Given the description of an element on the screen output the (x, y) to click on. 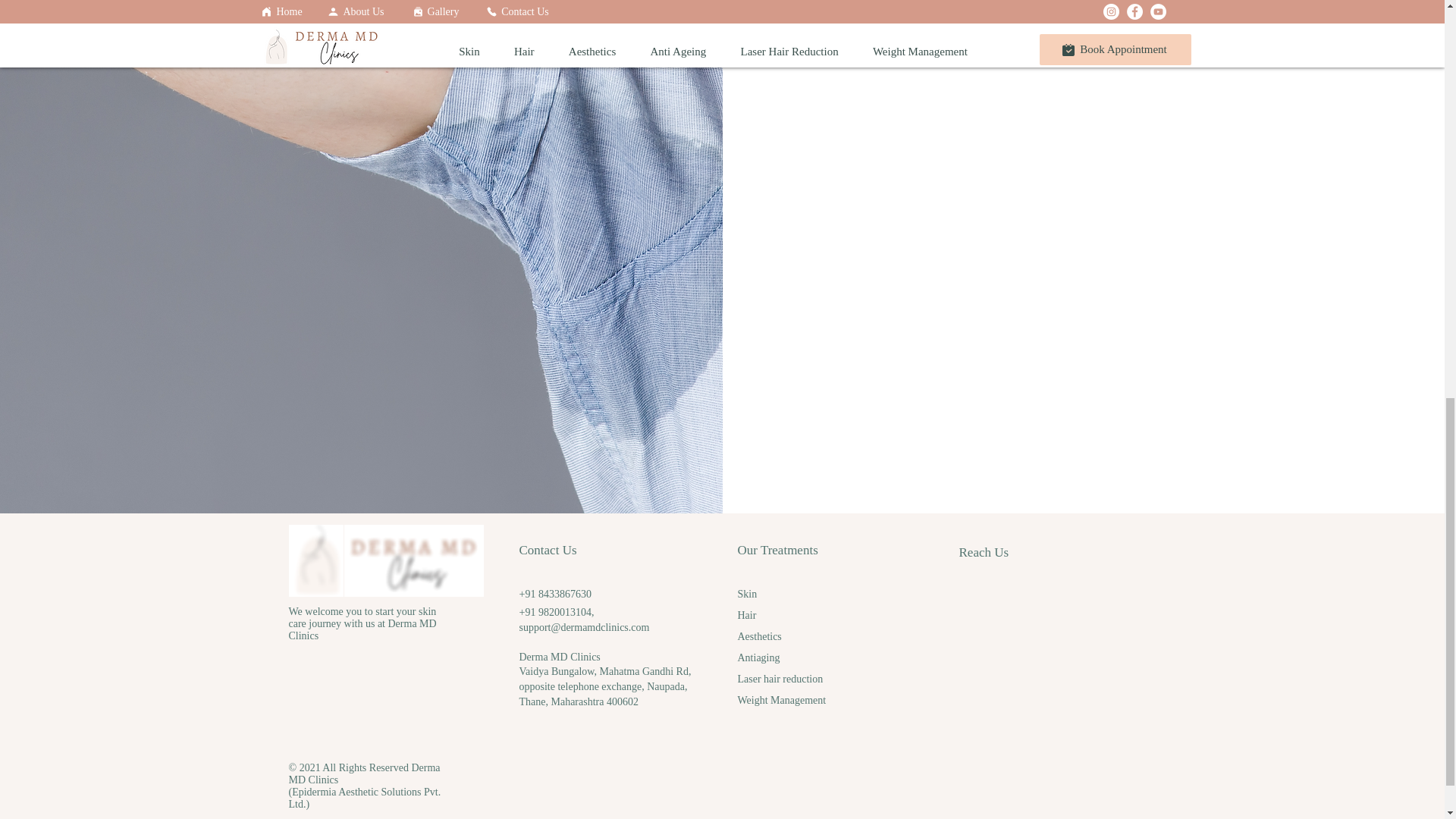
Google Maps (1057, 660)
